Given the description of an element on the screen output the (x, y) to click on. 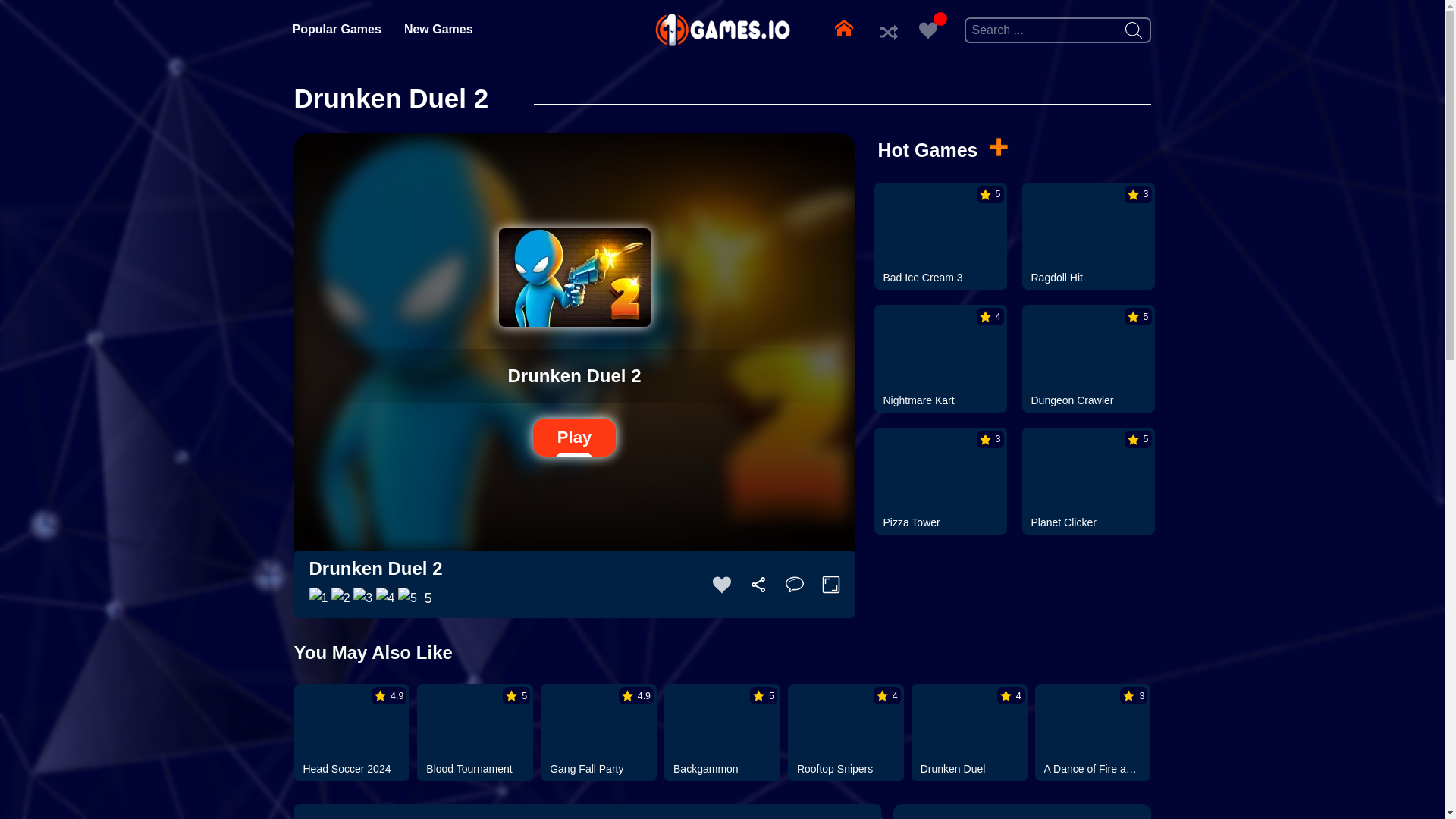
Popular Games (336, 29)
Dungeon Crawler (1078, 399)
5 (474, 719)
3 (1088, 223)
Bad Ice Cream 3 (930, 277)
gorgeous (406, 598)
Head Soccer 2024 (350, 768)
4.9 (352, 719)
New Games (438, 29)
Pizza Tower (930, 522)
Play (573, 437)
5 (1088, 345)
regular (362, 598)
Homepage (842, 29)
Nightmare Kart (930, 399)
